Given the description of an element on the screen output the (x, y) to click on. 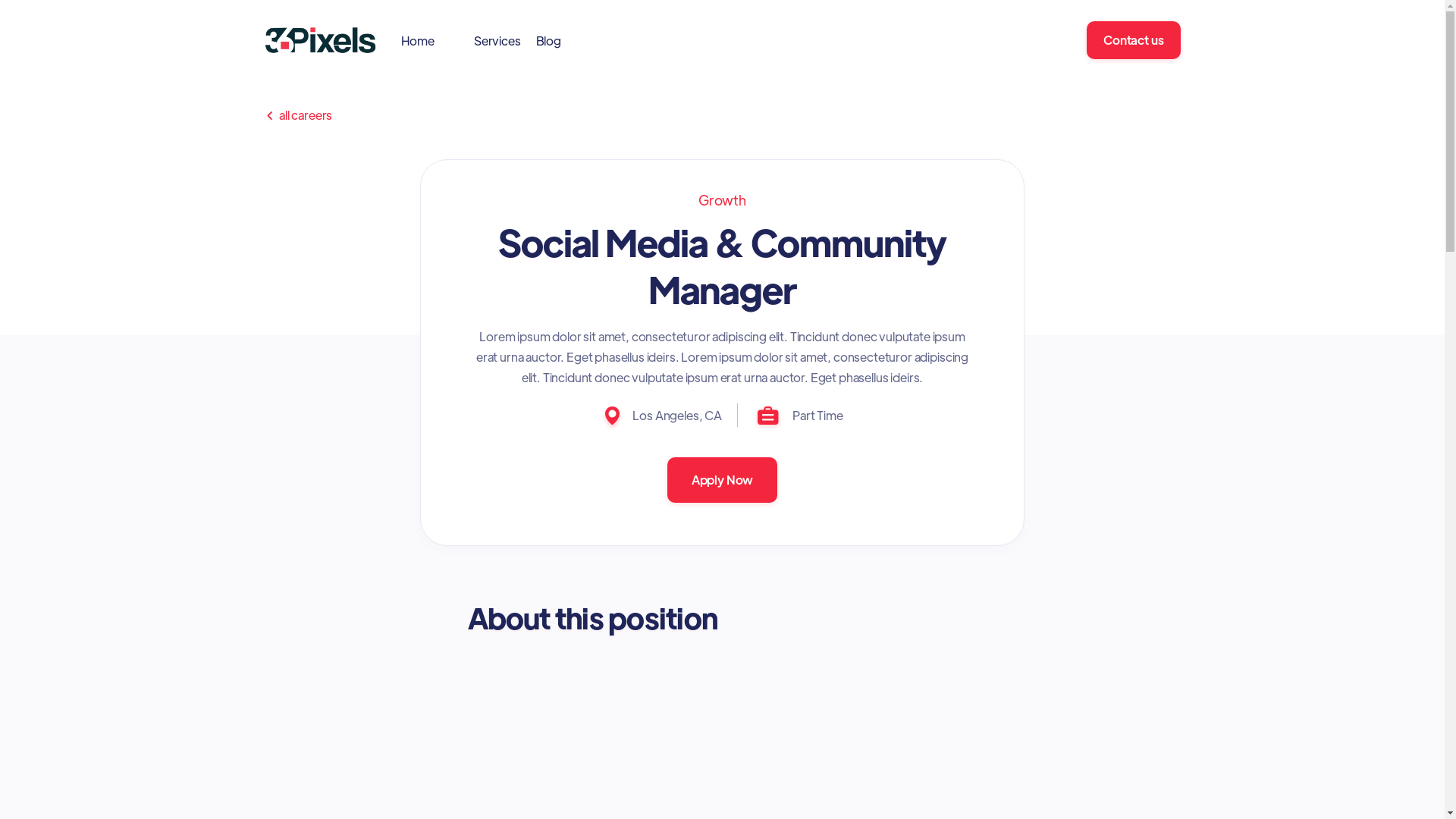
Services Element type: text (504, 39)
Home Element type: text (424, 39)
Apply Now Element type: text (722, 479)
Contact us Element type: text (1132, 40)
Blog Element type: text (556, 39)
Growth Element type: text (722, 199)
